Given the description of an element on the screen output the (x, y) to click on. 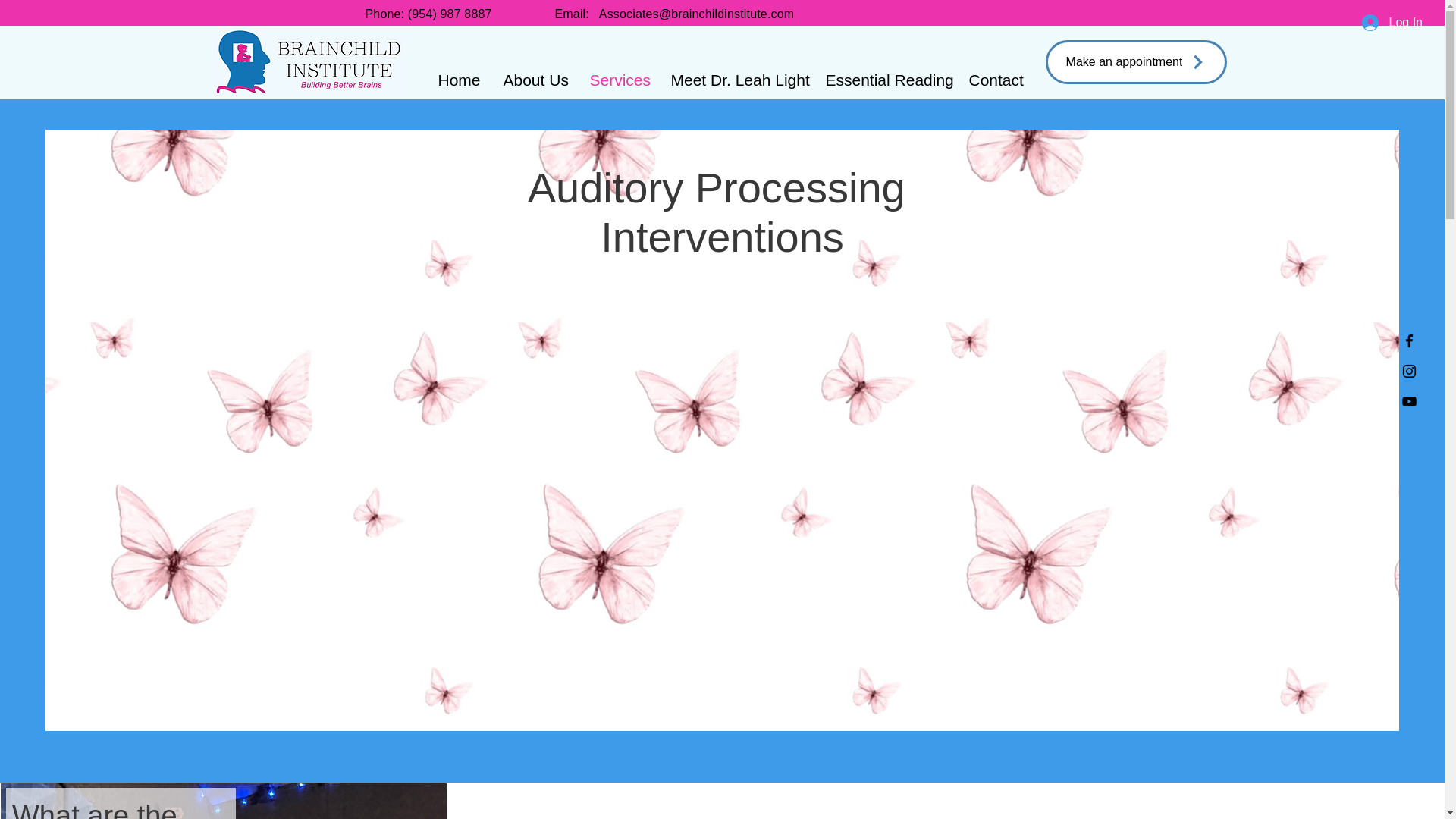
Make an appointment (1135, 62)
About Us (535, 80)
Log In (1391, 22)
Essential Reading (885, 80)
Contact (994, 80)
Home (459, 80)
Meet Dr. Leah Light (736, 80)
Services (618, 80)
